Given the description of an element on the screen output the (x, y) to click on. 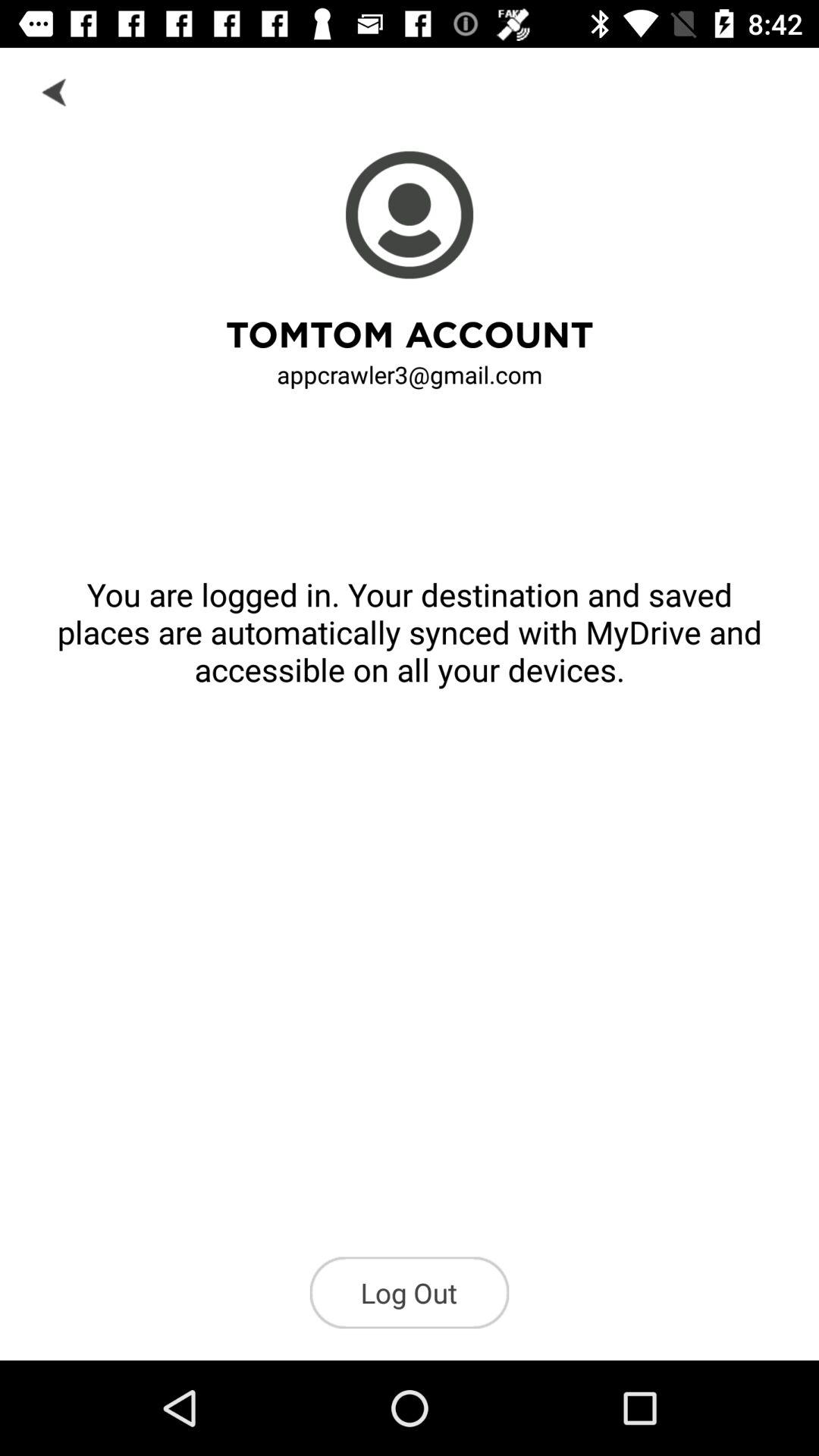
jump until log out icon (409, 1292)
